Given the description of an element on the screen output the (x, y) to click on. 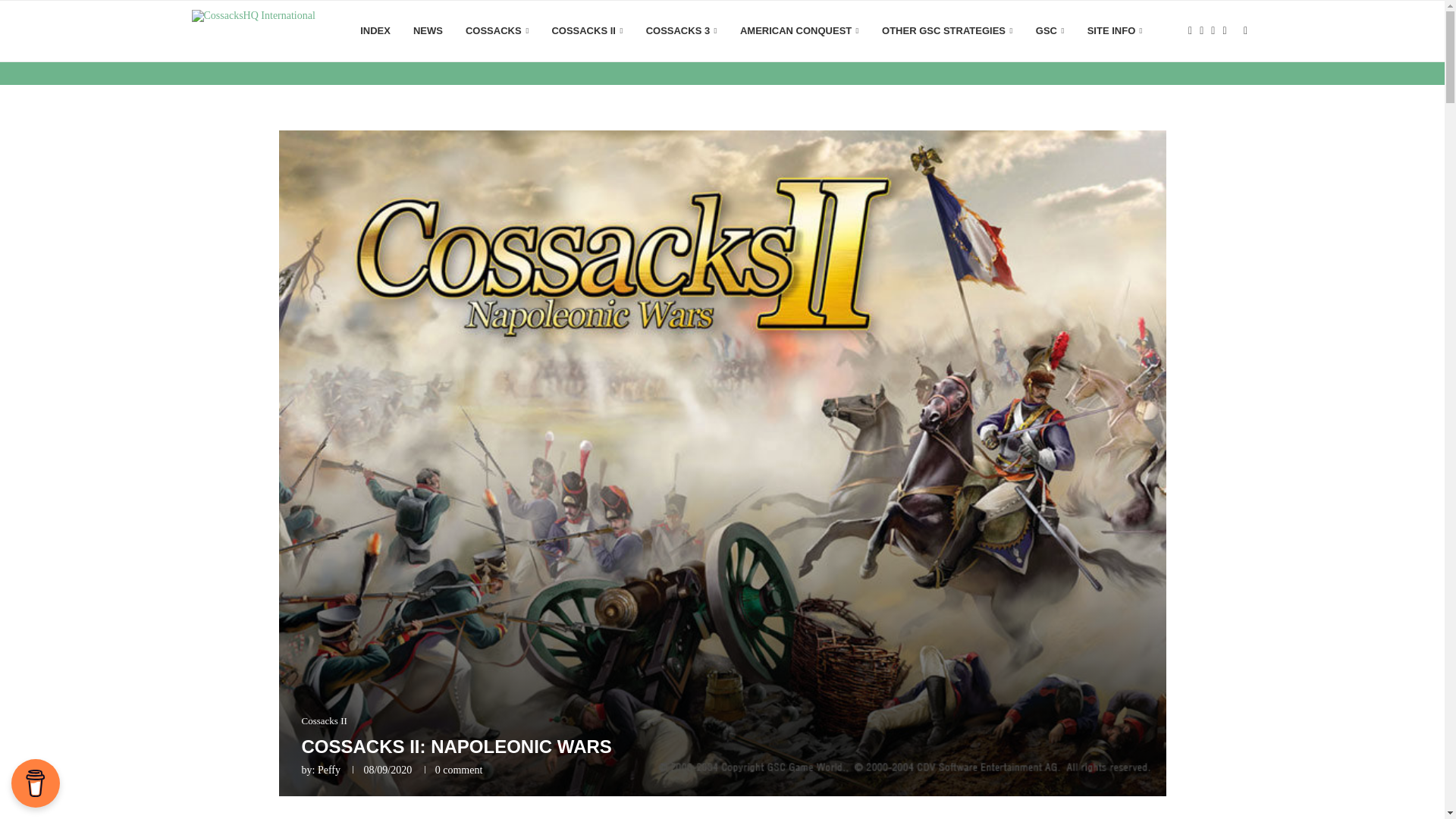
COSSACKS (496, 30)
COSSACKS II (587, 30)
